Given the description of an element on the screen output the (x, y) to click on. 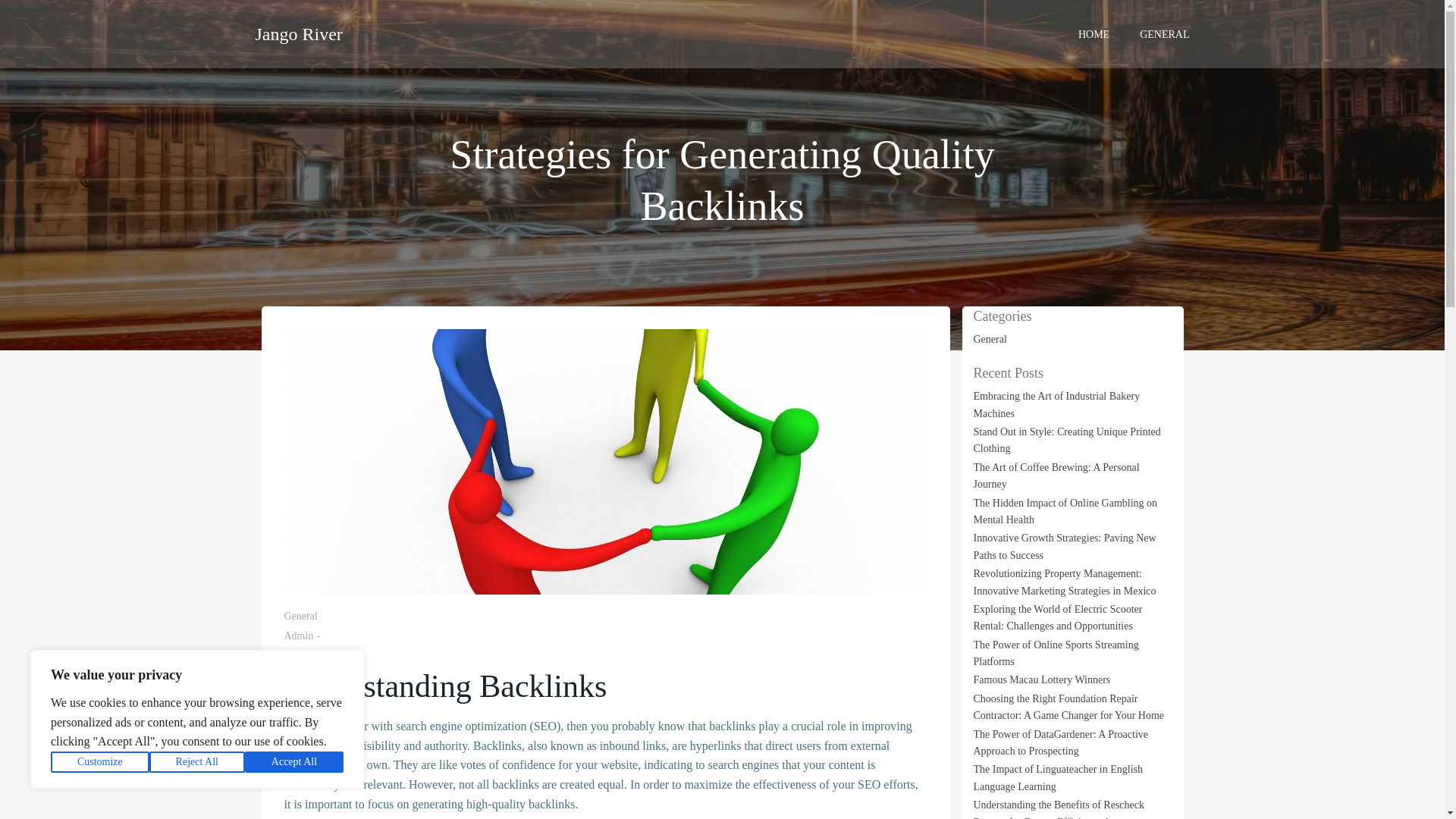
Stand Out in Style: Creating Unique Printed Clothing (1067, 439)
Accept All (293, 762)
Admin (298, 635)
Embracing the Art of Industrial Bakery Machines (1057, 404)
HOME (1093, 33)
Jango River (298, 33)
General (990, 338)
General (300, 616)
The Hidden Impact of Online Gambling on Mental Health (1065, 511)
Reject All (196, 762)
The Art of Coffee Brewing: A Personal Journey (1057, 475)
GENERAL (1164, 33)
Customize (99, 762)
